Given the description of an element on the screen output the (x, y) to click on. 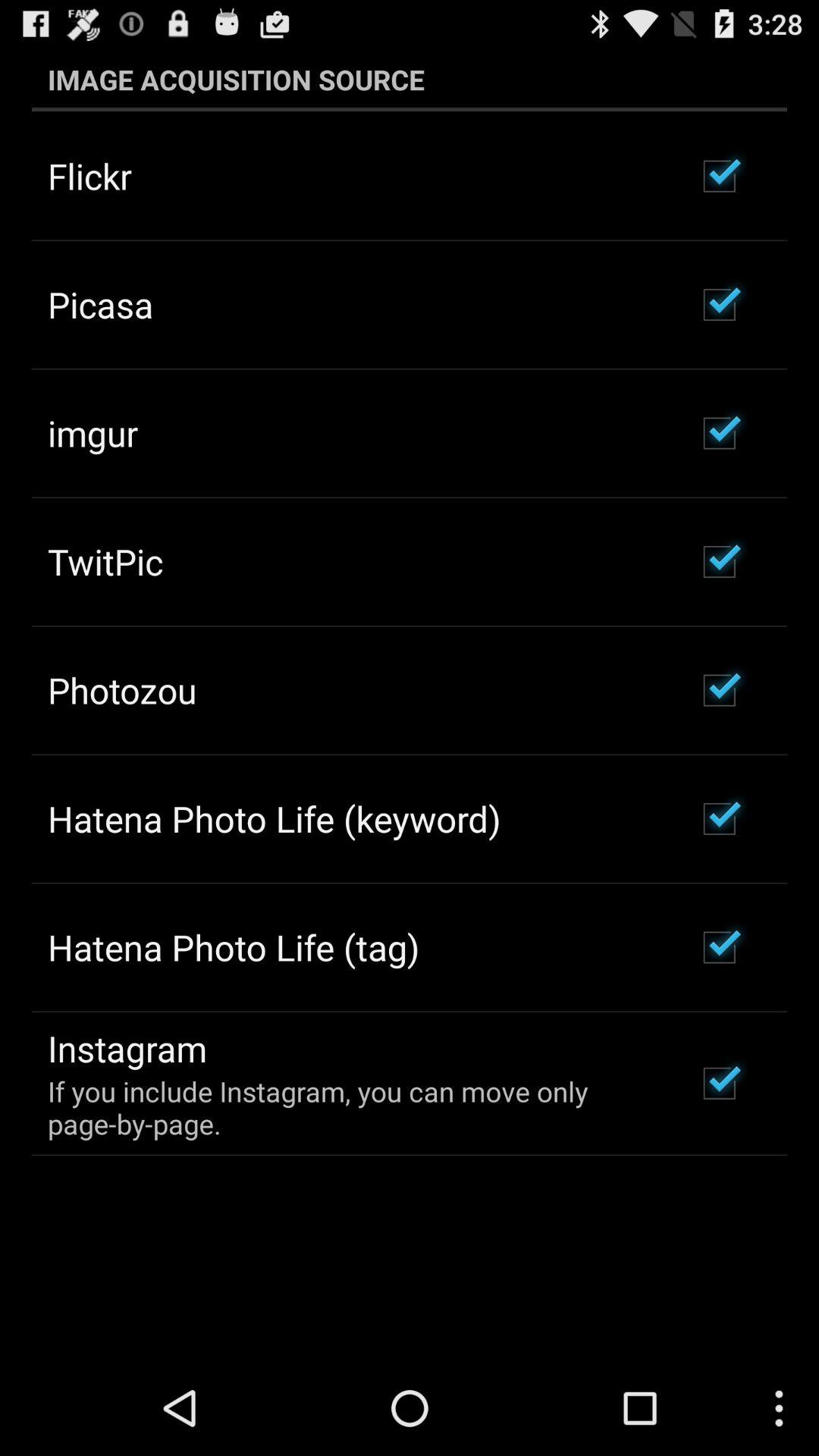
select the checkbox just right to flickr (719, 176)
